Given the description of an element on the screen output the (x, y) to click on. 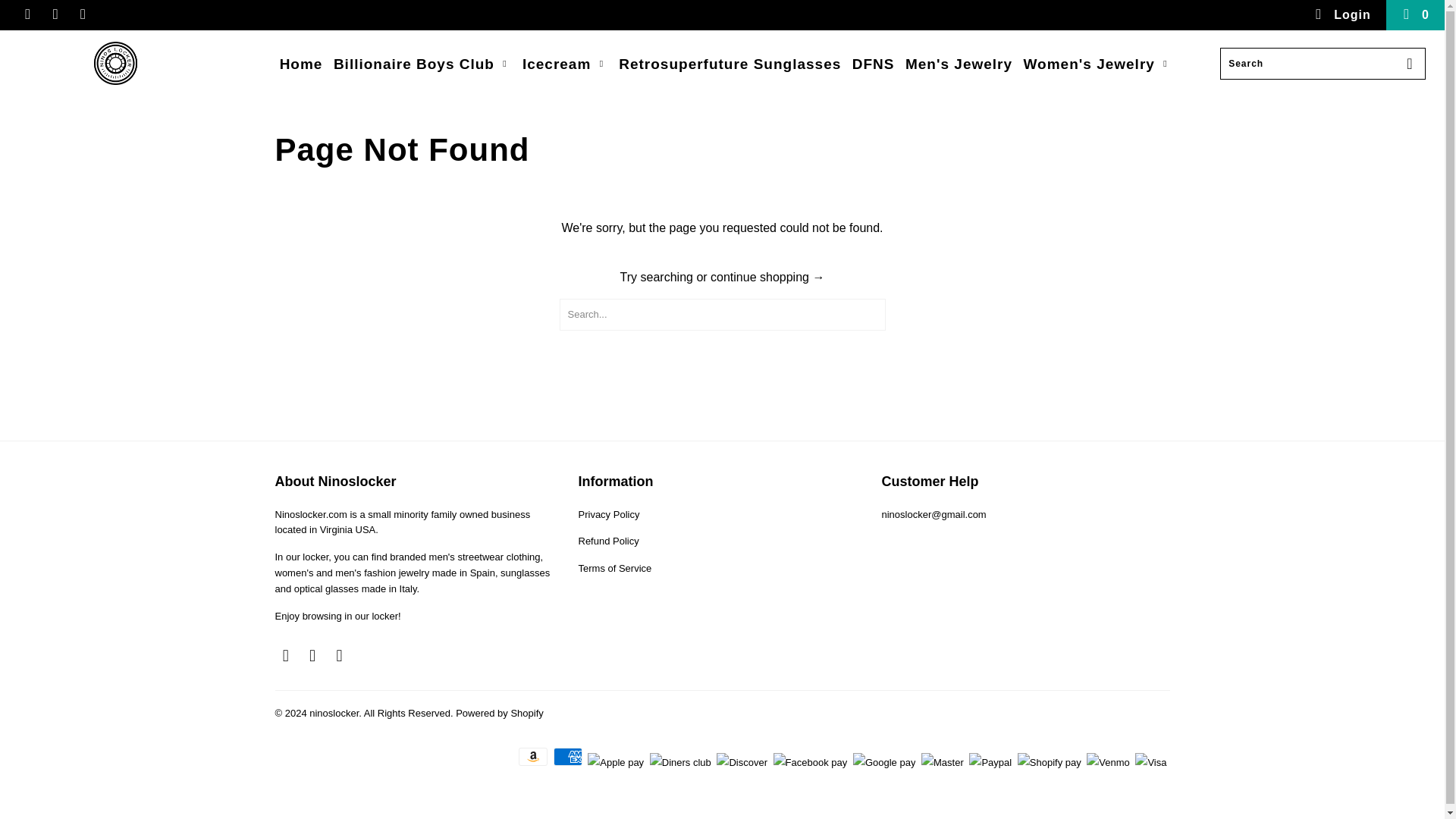
Home (301, 64)
Email ninoslocker (339, 656)
Men's Jewelry (958, 64)
ninoslocker on Facebook (286, 656)
ninoslocker (115, 64)
ninoslocker on Facebook (26, 14)
Billionaire Boys Club (422, 64)
Retrosuperfuture Sunglasses (729, 64)
ninoslocker on Instagram (54, 14)
Icecream (565, 64)
